Given the description of an element on the screen output the (x, y) to click on. 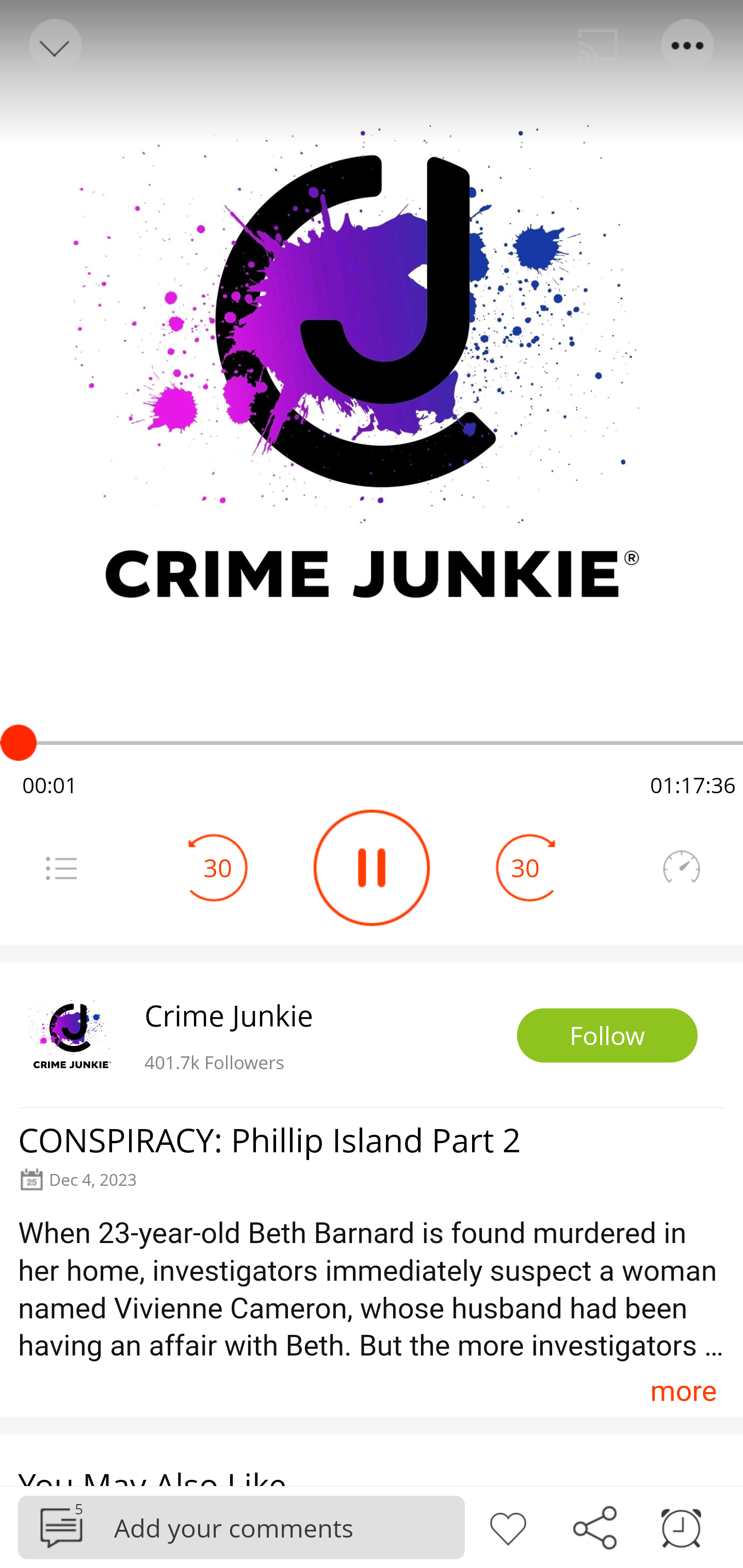
Back (53, 45)
Cast. Disconnected (597, 45)
Menu (688, 45)
Play (371, 867)
30 Seek Backward (217, 867)
30 Seek Forward (525, 867)
Menu (60, 867)
Speedometer (681, 867)
Crime Junkie 401.7k Followers Follow (371, 1034)
Follow (607, 1035)
more (682, 1390)
Like (508, 1526)
Share (594, 1526)
Sleep timer (681, 1526)
Podbean 5 Add your comments (241, 1526)
